Given the description of an element on the screen output the (x, y) to click on. 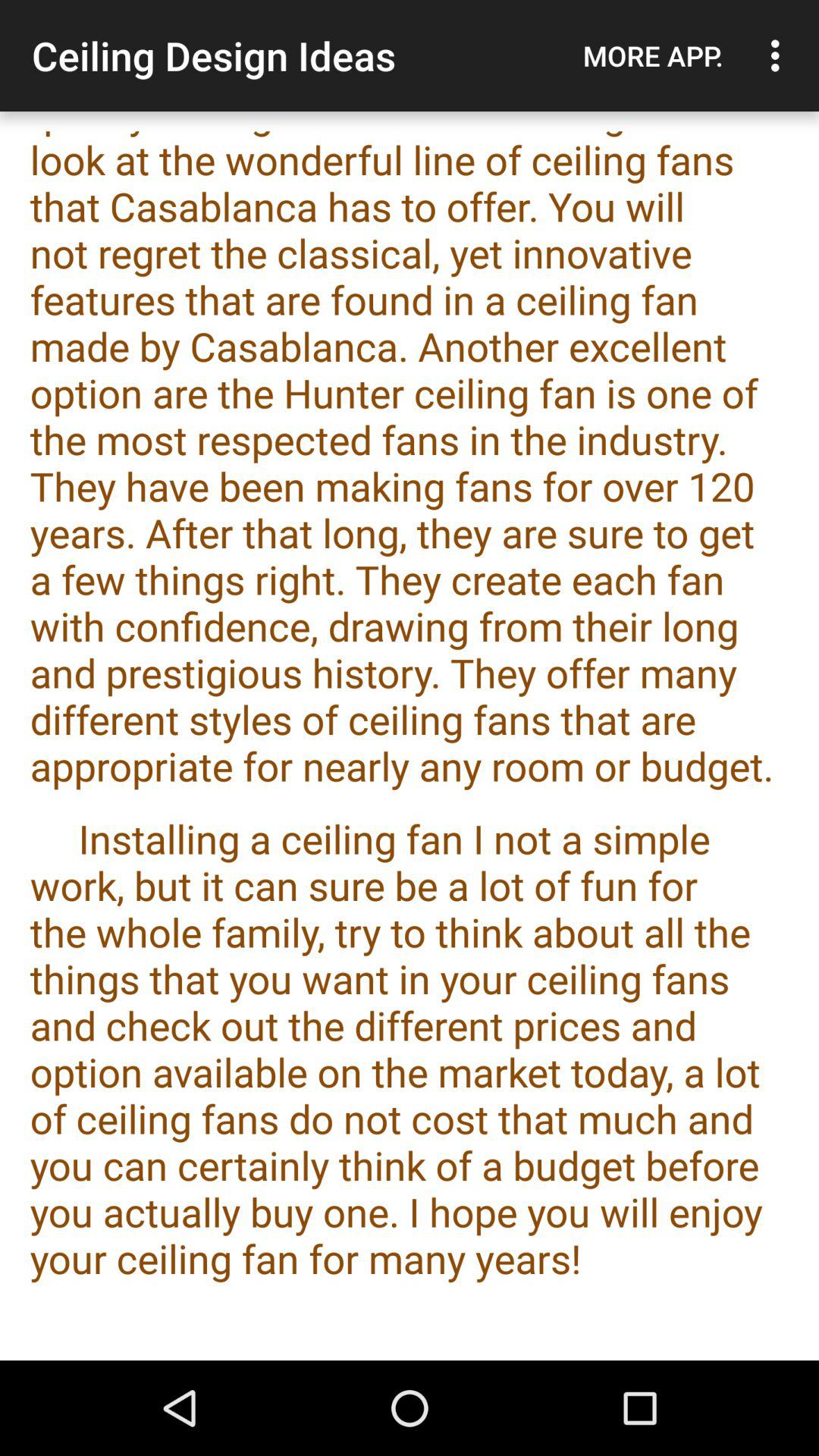
click the app above the ceiling fan item (653, 55)
